Given the description of an element on the screen output the (x, y) to click on. 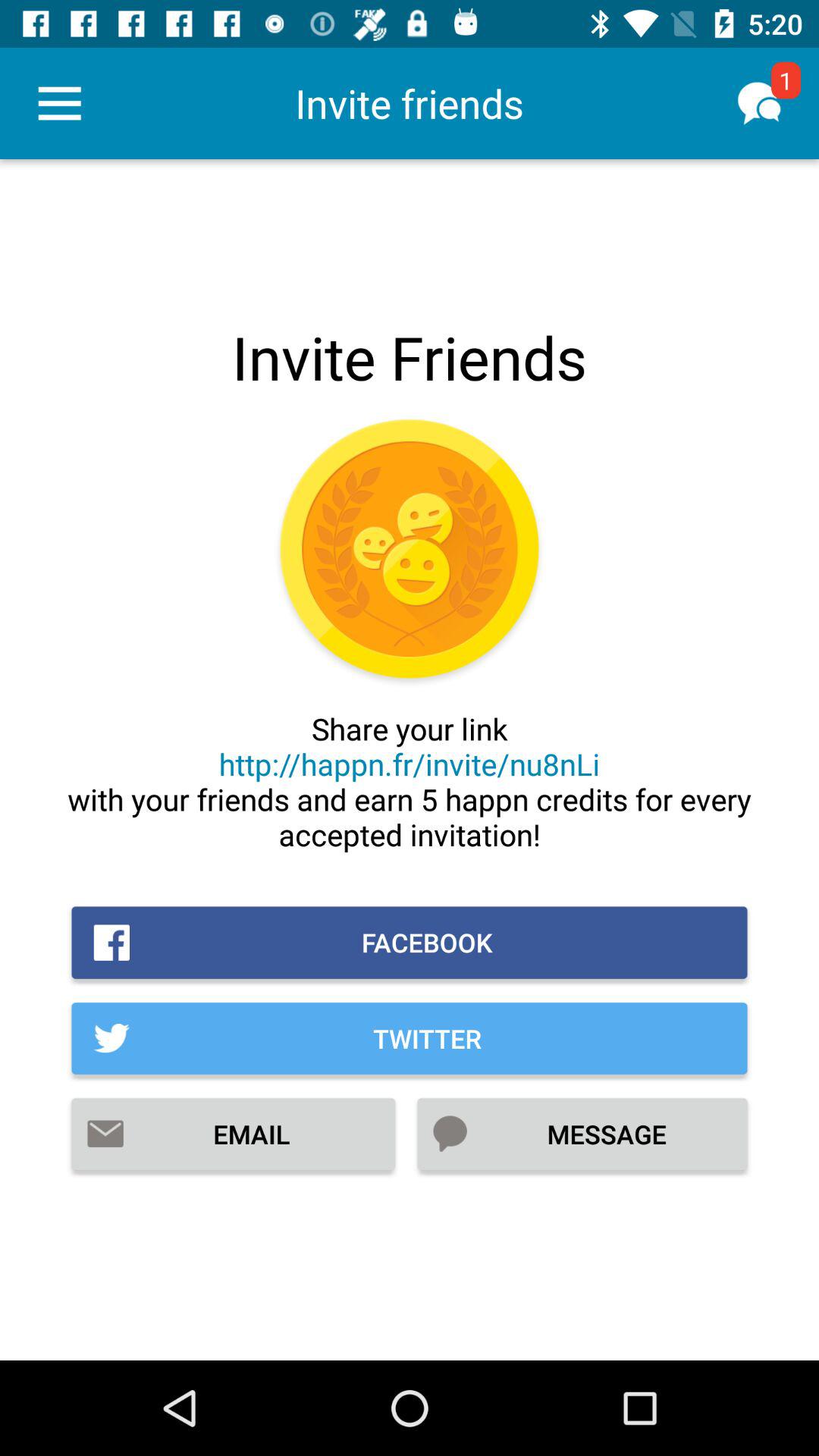
swipe until message (582, 1133)
